Given the description of an element on the screen output the (x, y) to click on. 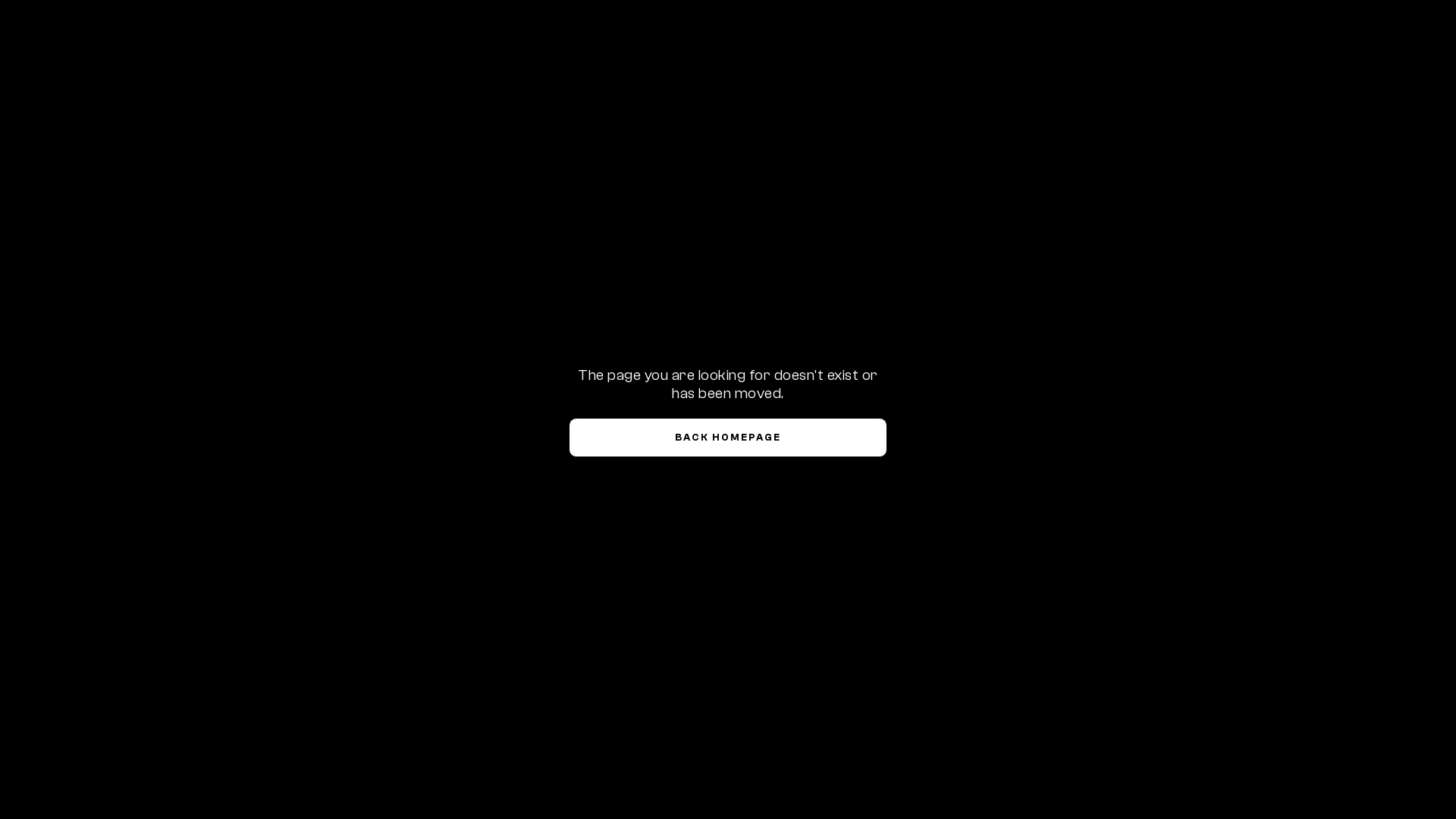
BACK HOMEPAGE Element type: text (727, 437)
